Given the description of an element on the screen output the (x, y) to click on. 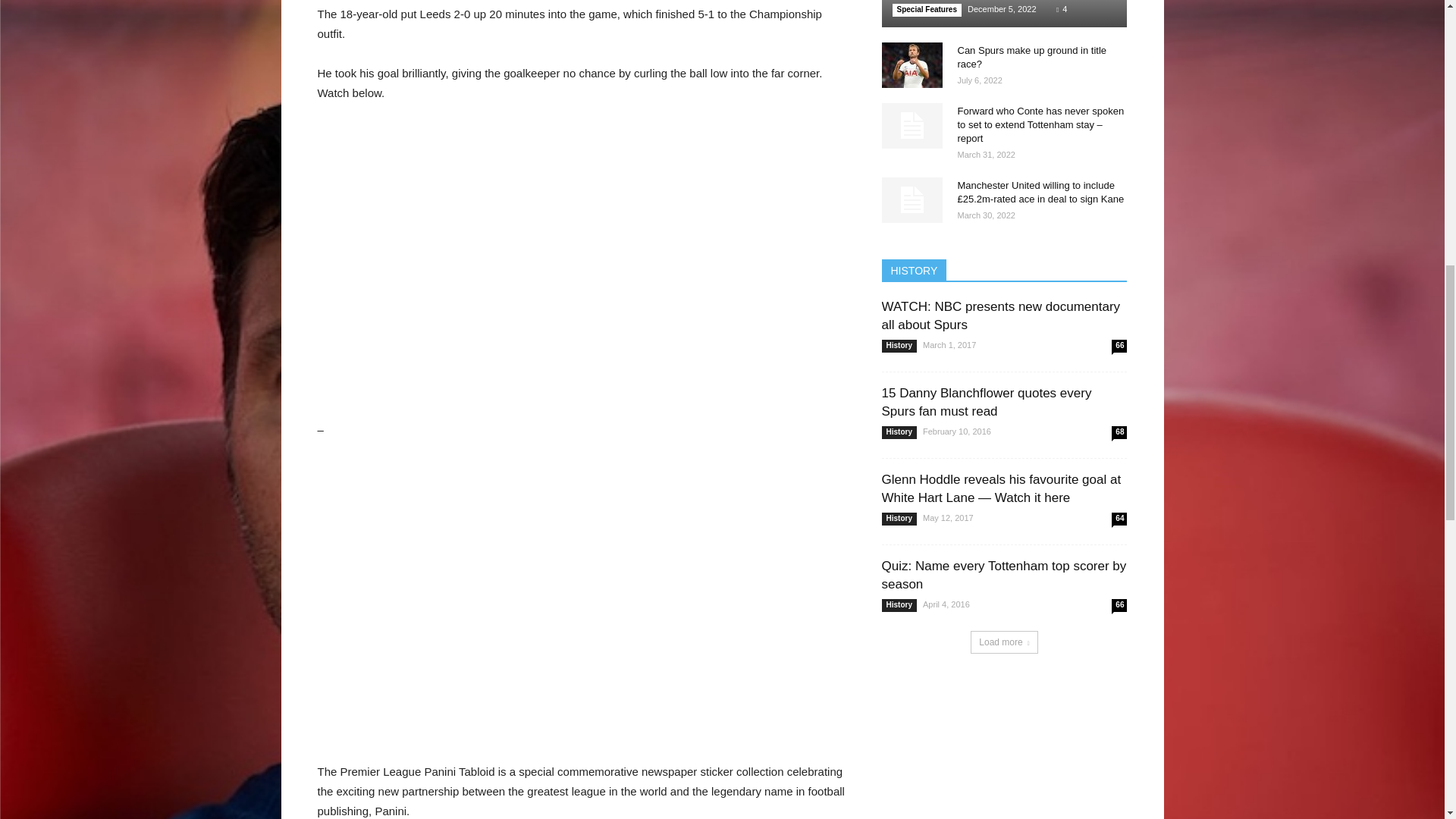
Will Son shine at the 2022 World Cup? (1003, 13)
15 Danny Blanchflower quotes every Spurs fan must read (985, 401)
Can Spurs make up ground in title race? (911, 64)
WATCH: NBC presents new documentary all about Spurs (999, 315)
Can Spurs make up ground in title race? (1031, 57)
